Given the description of an element on the screen output the (x, y) to click on. 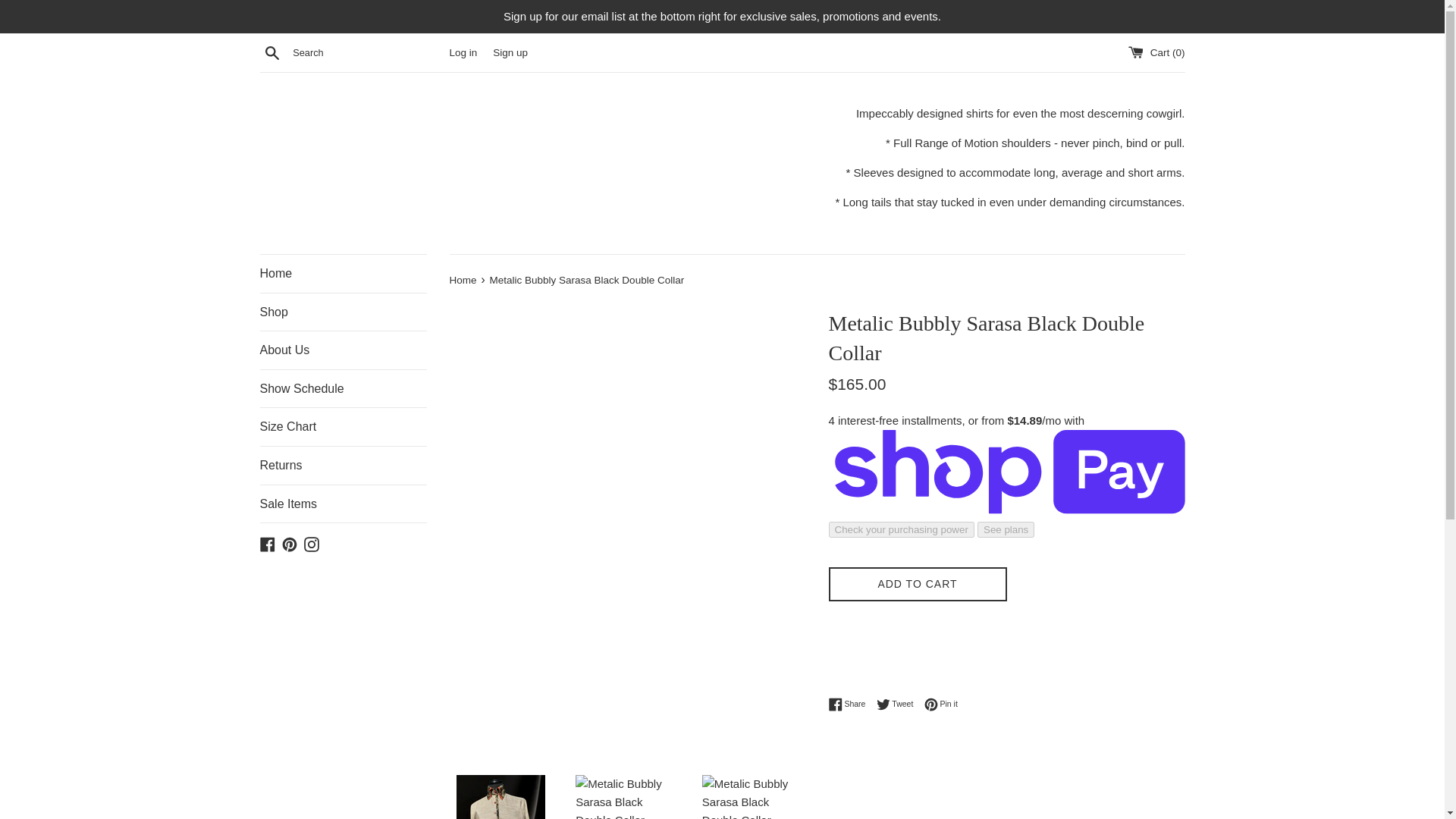
Size Chart (342, 426)
ADD TO CART (917, 584)
Sale Items (342, 504)
Search (271, 52)
Tweet on Twitter (898, 704)
Returns (342, 465)
Back to the frontpage (898, 704)
Sign up (463, 279)
Home (510, 52)
Shop (342, 273)
Instagram (342, 312)
Stormcloud Clothing on Facebook (311, 543)
About Us (850, 704)
